Given the description of an element on the screen output the (x, y) to click on. 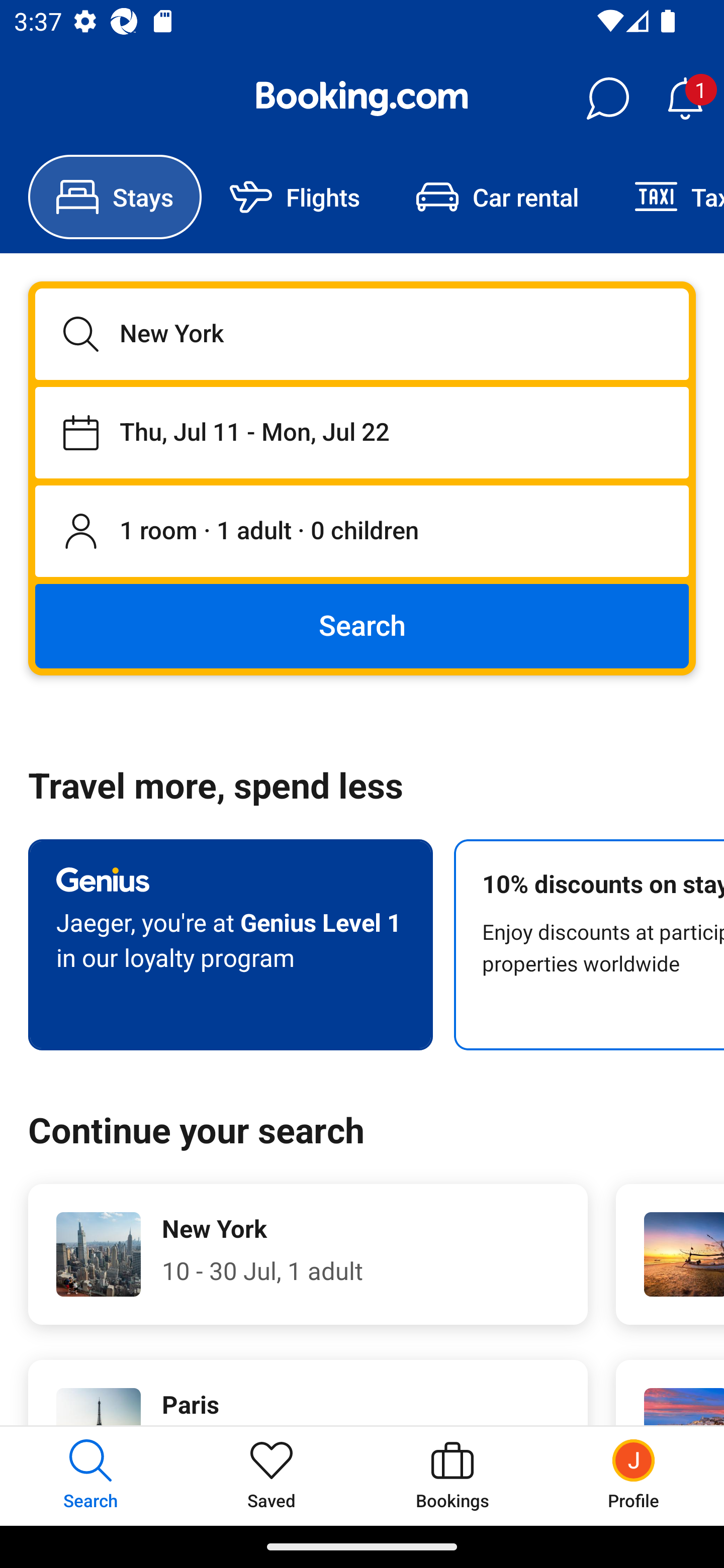
Messages (607, 98)
Notifications (685, 98)
Stays (114, 197)
Flights (294, 197)
Car rental (497, 197)
Taxi (665, 197)
New York (361, 333)
Staying from Thu, Jul 11 until Mon, Jul 22 (361, 432)
1 room, 1 adult, 0 children (361, 531)
Search (361, 625)
New York 10 - 30 Jul, 1 adult (307, 1253)
Saved (271, 1475)
Bookings (452, 1475)
Profile (633, 1475)
